Given the description of an element on the screen output the (x, y) to click on. 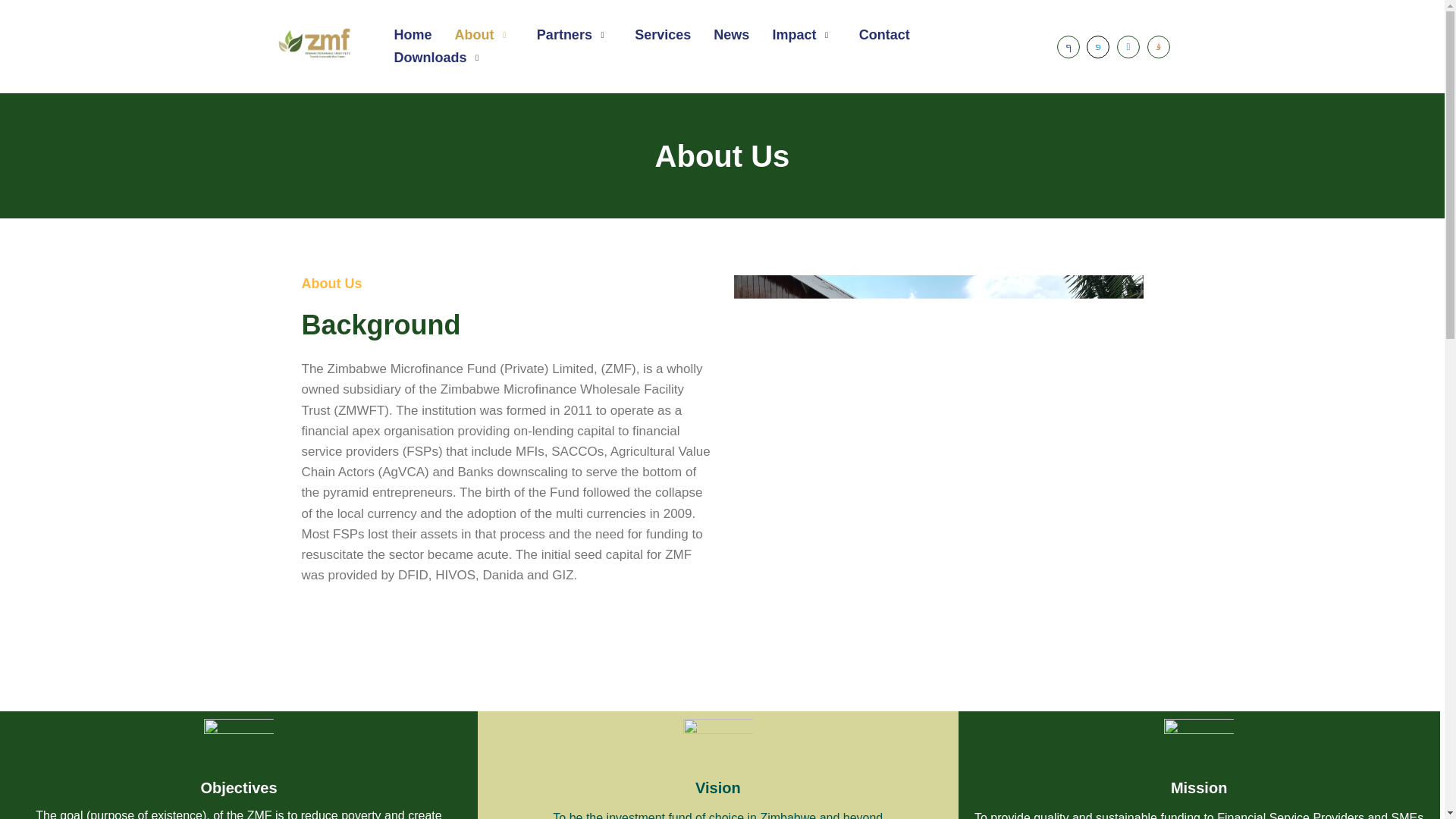
Contact (884, 35)
About (483, 35)
Home (411, 35)
Partners (574, 35)
Downloads (439, 57)
News (730, 35)
Services (662, 35)
Impact (803, 35)
